Given the description of an element on the screen output the (x, y) to click on. 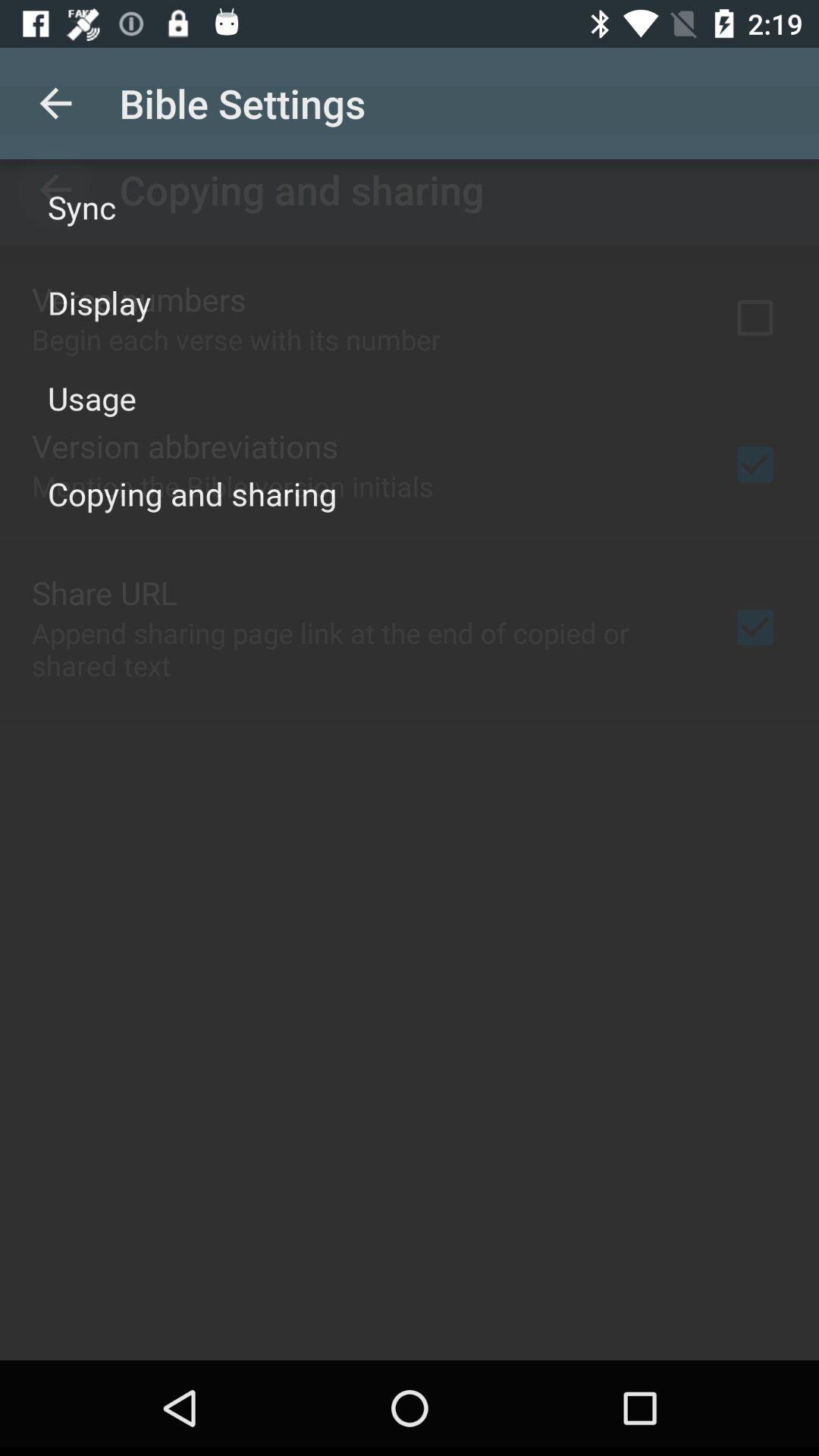
open the copying and sharing icon (191, 493)
